Given the description of an element on the screen output the (x, y) to click on. 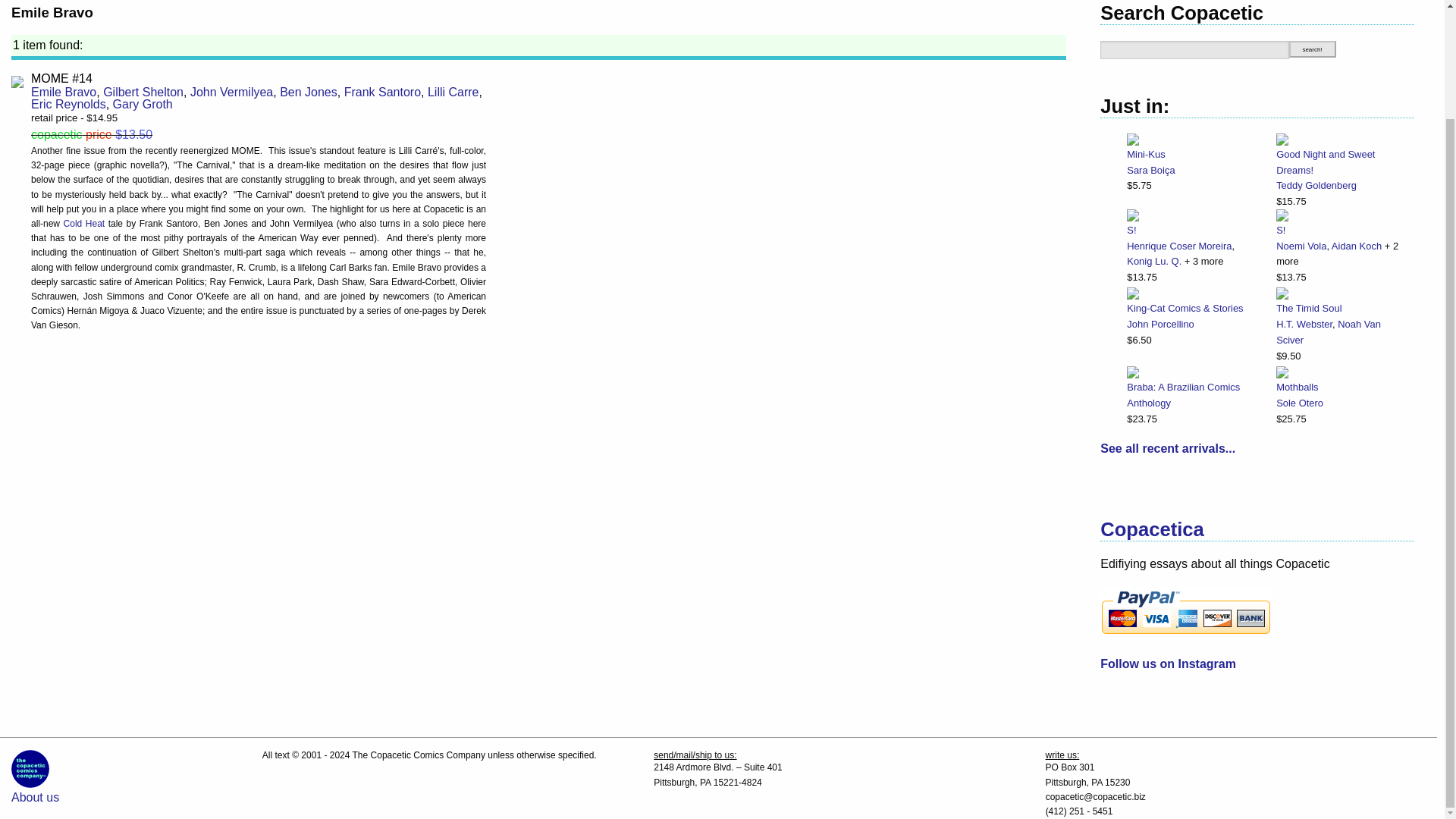
Mini-Kus (1145, 153)
Ben Jones (308, 91)
Emile Bravo (63, 91)
John Porcellino (1159, 324)
Braba: A Brazilian Comics Anthology (1189, 395)
Good Night and Sweet Dreams! (1339, 162)
S! (1189, 230)
Noemi Vola (1301, 245)
Teddy Goldenberg (1316, 184)
The Timid Soul (1339, 308)
